Given the description of an element on the screen output the (x, y) to click on. 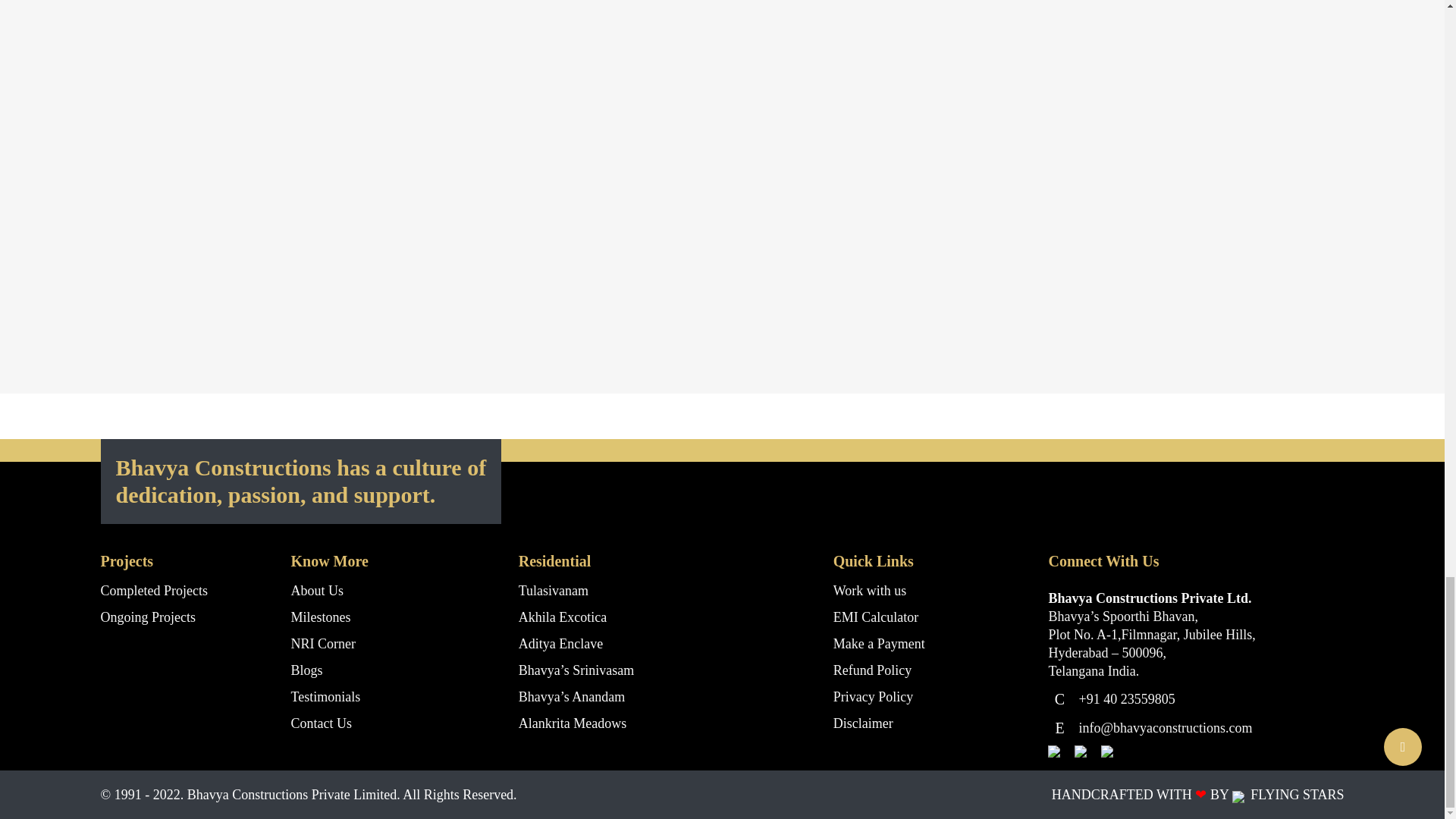
Contact Us (321, 723)
Testimonials (326, 696)
Tulasivanam (553, 590)
Akhila Excotica (562, 616)
Ongoing Projects (147, 616)
NRI Corner (323, 643)
About Us (317, 590)
Blogs (307, 670)
Milestones (320, 616)
Completed Projects (153, 590)
Connect With Us (1360, 359)
